Given the description of an element on the screen output the (x, y) to click on. 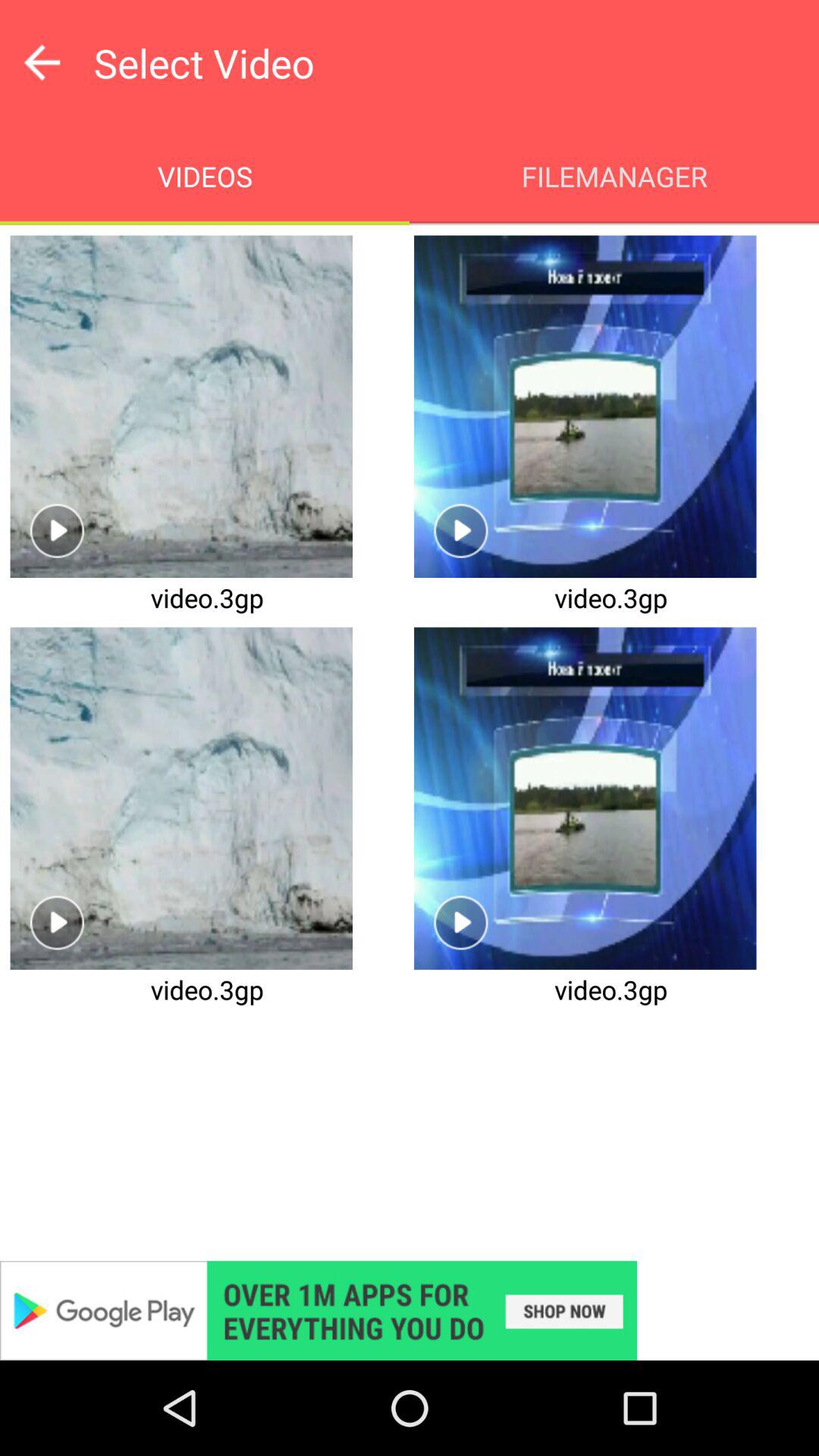
advertisement (409, 1310)
